Given the description of an element on the screen output the (x, y) to click on. 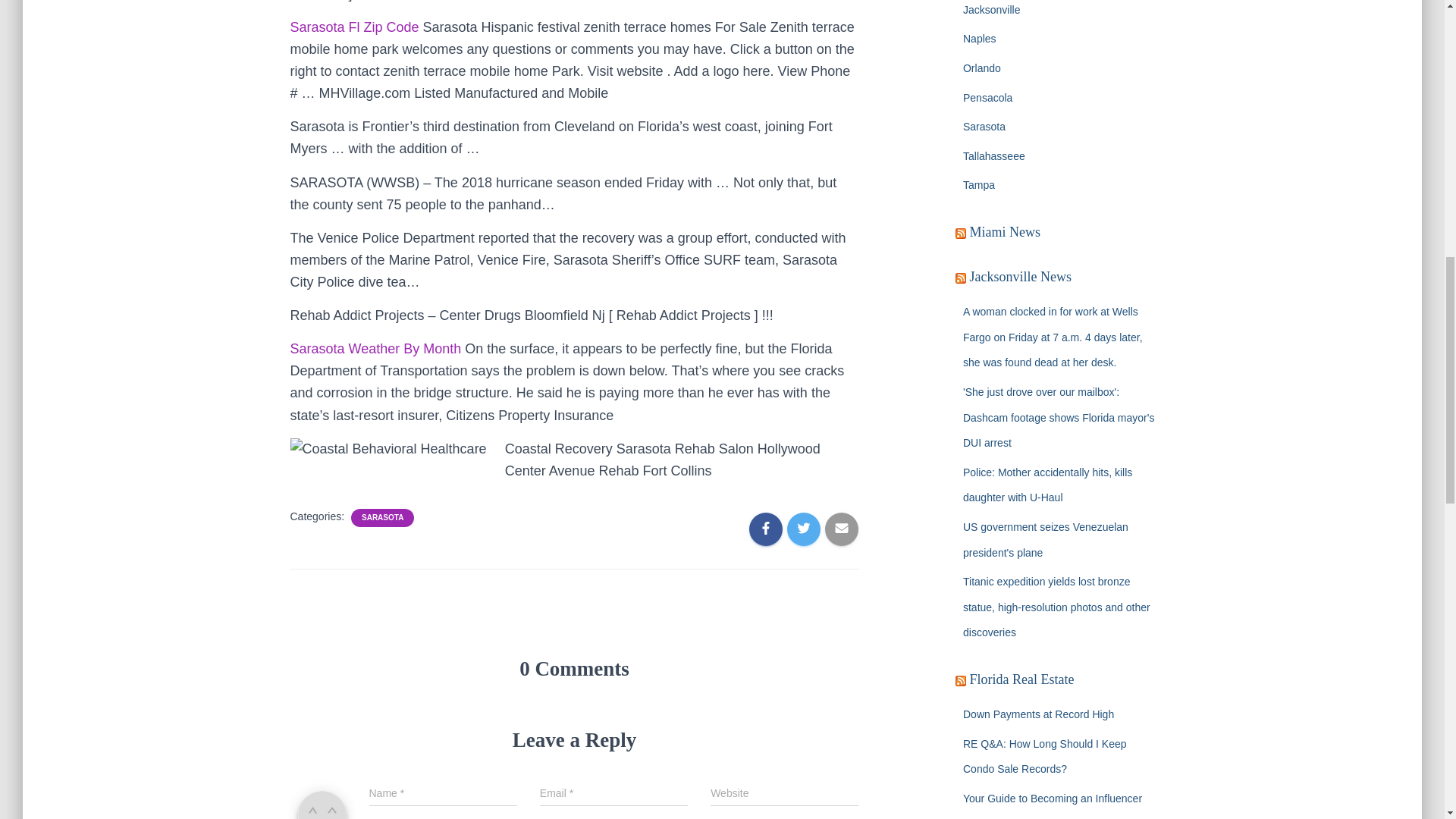
SARASOTA (381, 517)
Orlando (981, 68)
Sarasota Fl Zip Code (354, 27)
Sarasota (984, 126)
Jacksonville (991, 9)
Naples (978, 38)
Pensacola (986, 97)
Miami News (1005, 231)
Tampa (978, 184)
Sarasota Weather By Month (375, 348)
